Given the description of an element on the screen output the (x, y) to click on. 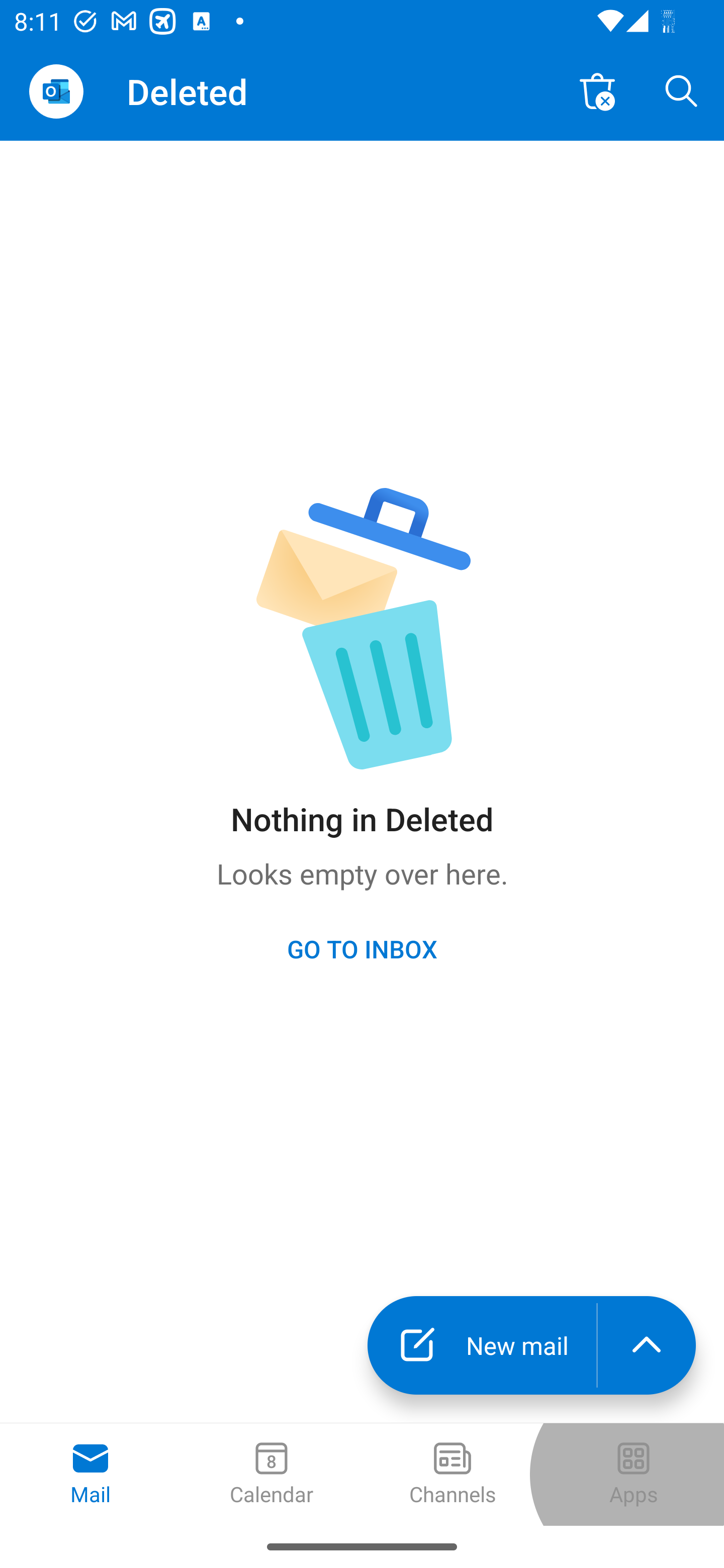
Empty Deleted (597, 90)
Search, ,  (681, 90)
Open Navigation Drawer (55, 91)
GO TO INBOX (362, 948)
New mail (481, 1344)
launch the extended action menu (646, 1344)
Calendar (271, 1474)
Channels (452, 1474)
Apps (633, 1474)
